Given the description of an element on the screen output the (x, y) to click on. 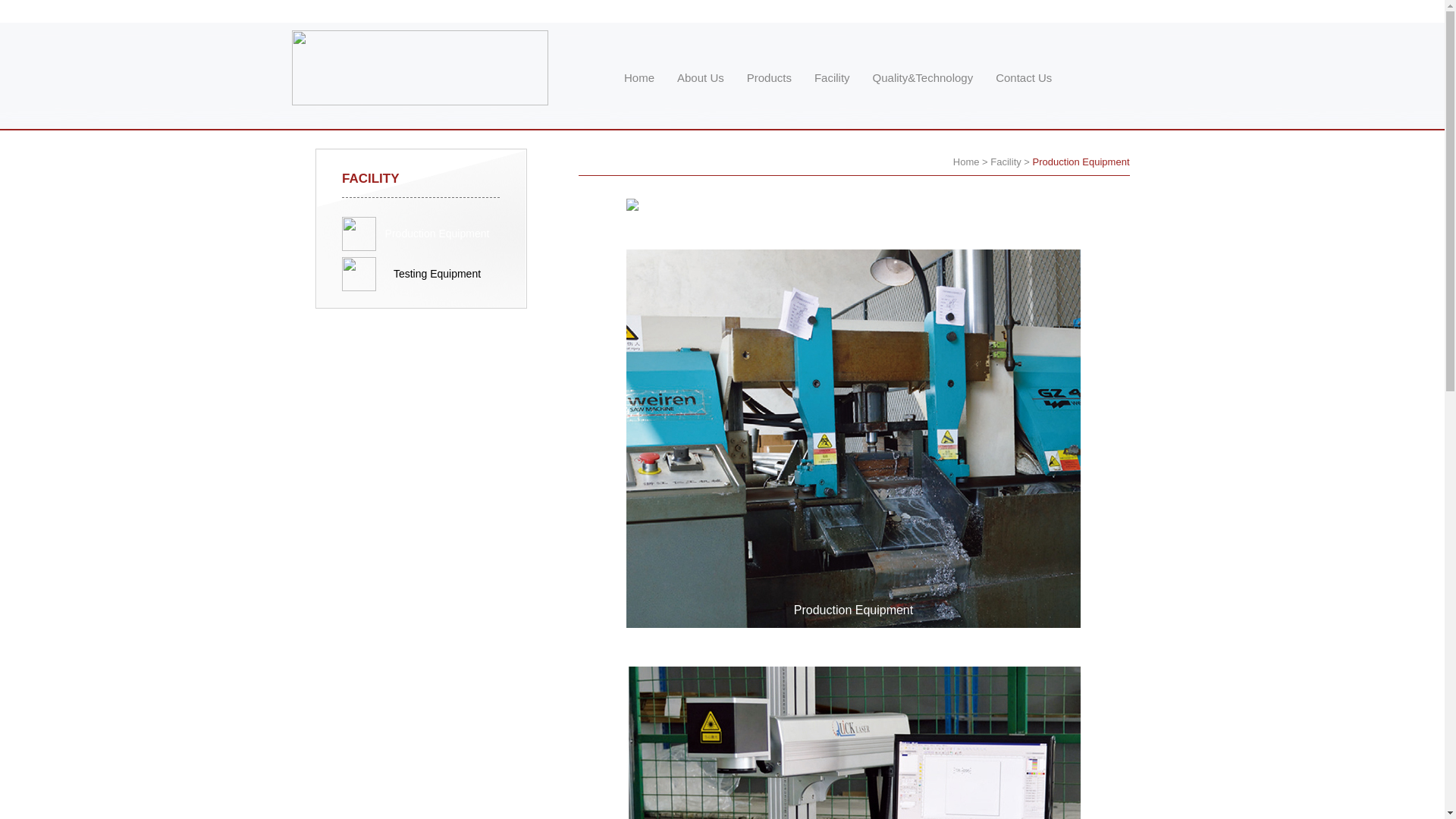
Production Equipment Element type: text (420, 233)
Facility Element type: text (832, 77)
Home Element type: text (639, 77)
About Us Element type: text (700, 77)
Production Equipment Element type: text (1080, 161)
Testing Equipment Element type: text (420, 274)
Language: Element type: text (1108, 11)
Quality&Technology Element type: text (922, 77)
Contact Us Element type: text (1023, 77)
Production Equipment Element type: text (437, 233)
Products Element type: text (768, 77)
Testing Equipment Element type: text (436, 273)
Home Element type: text (966, 161)
Facility Element type: text (1005, 161)
